Given the description of an element on the screen output the (x, y) to click on. 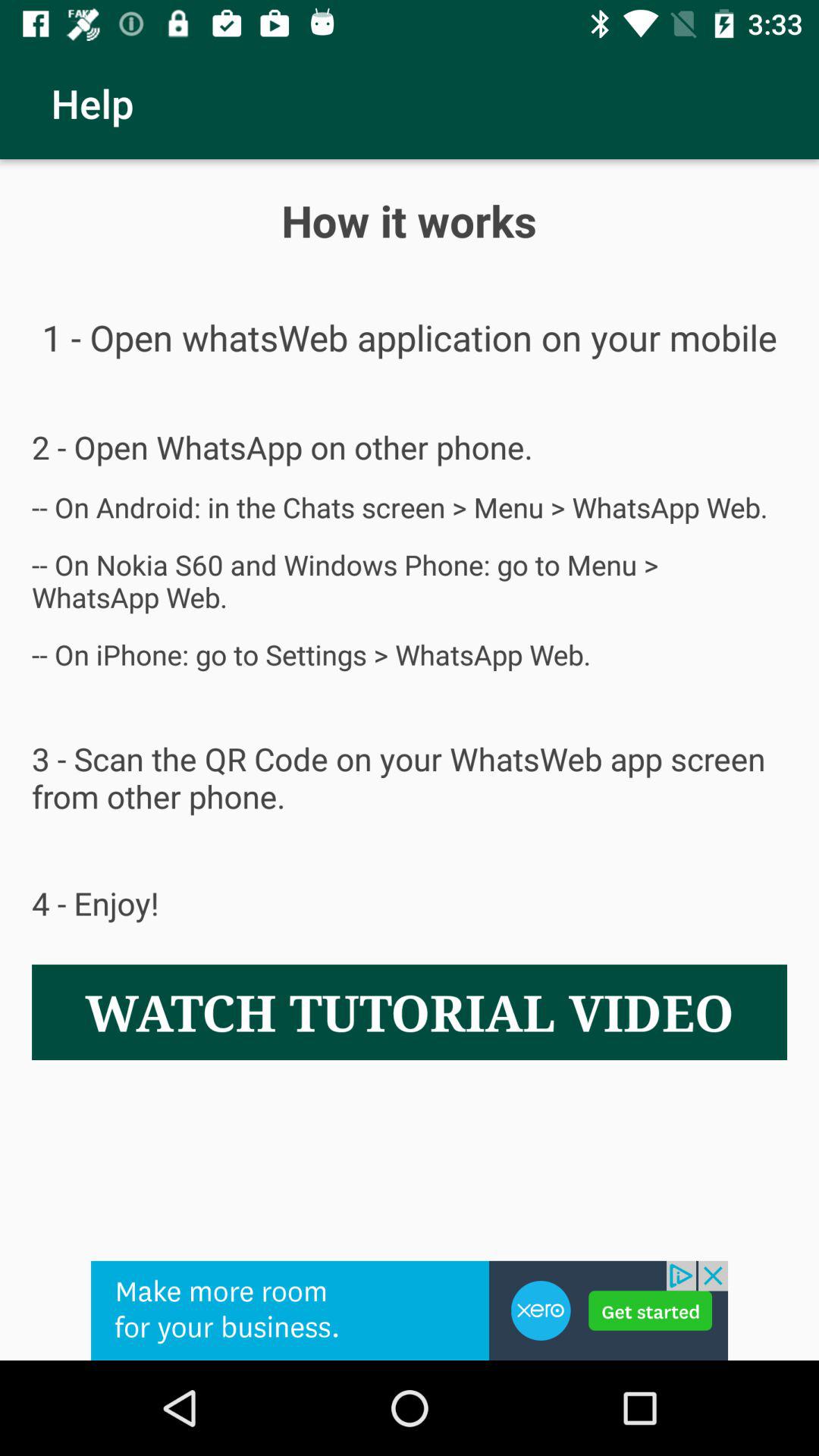
for add (409, 1310)
